Given the description of an element on the screen output the (x, y) to click on. 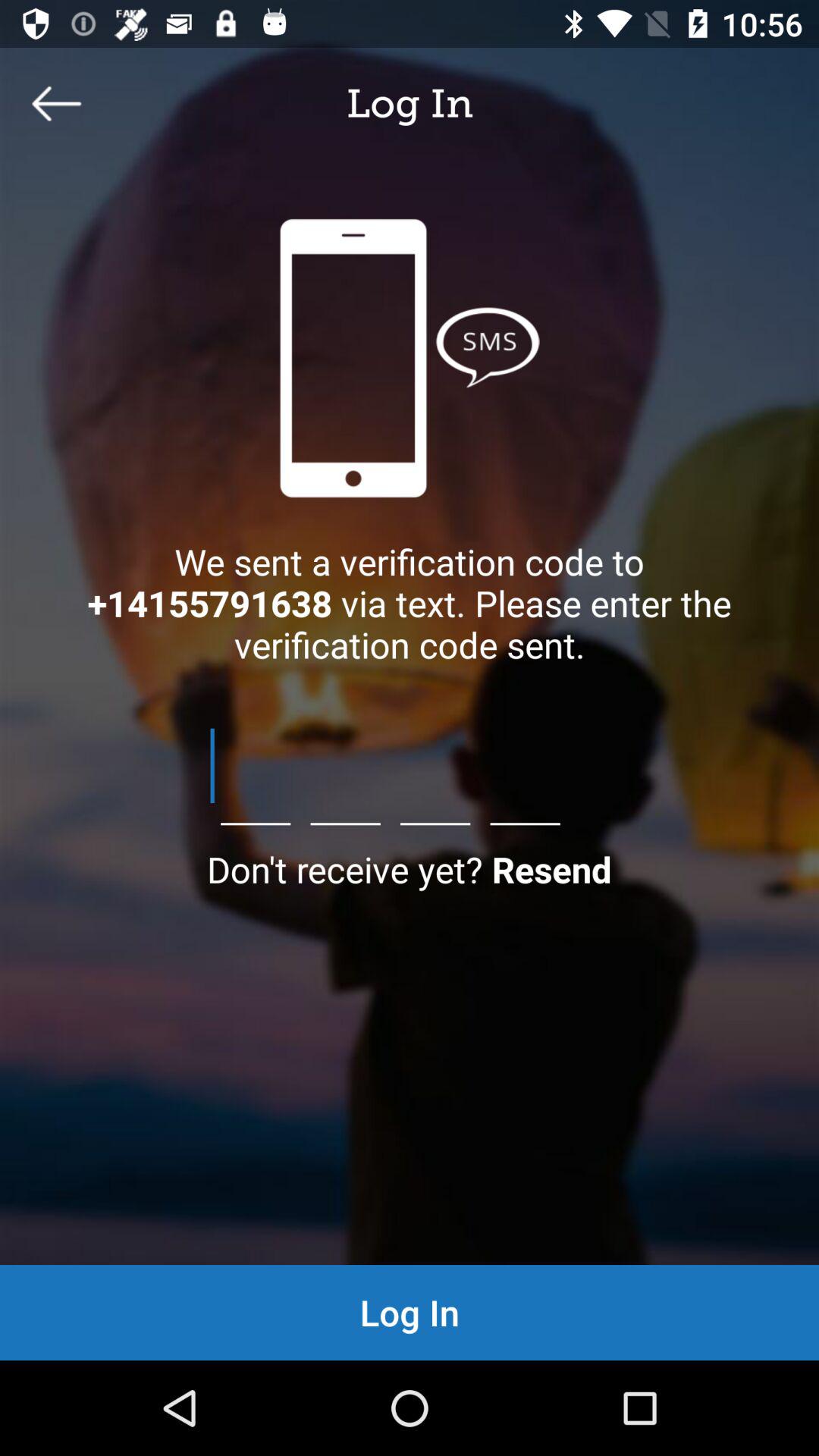
enter number (409, 765)
